Given the description of an element on the screen output the (x, y) to click on. 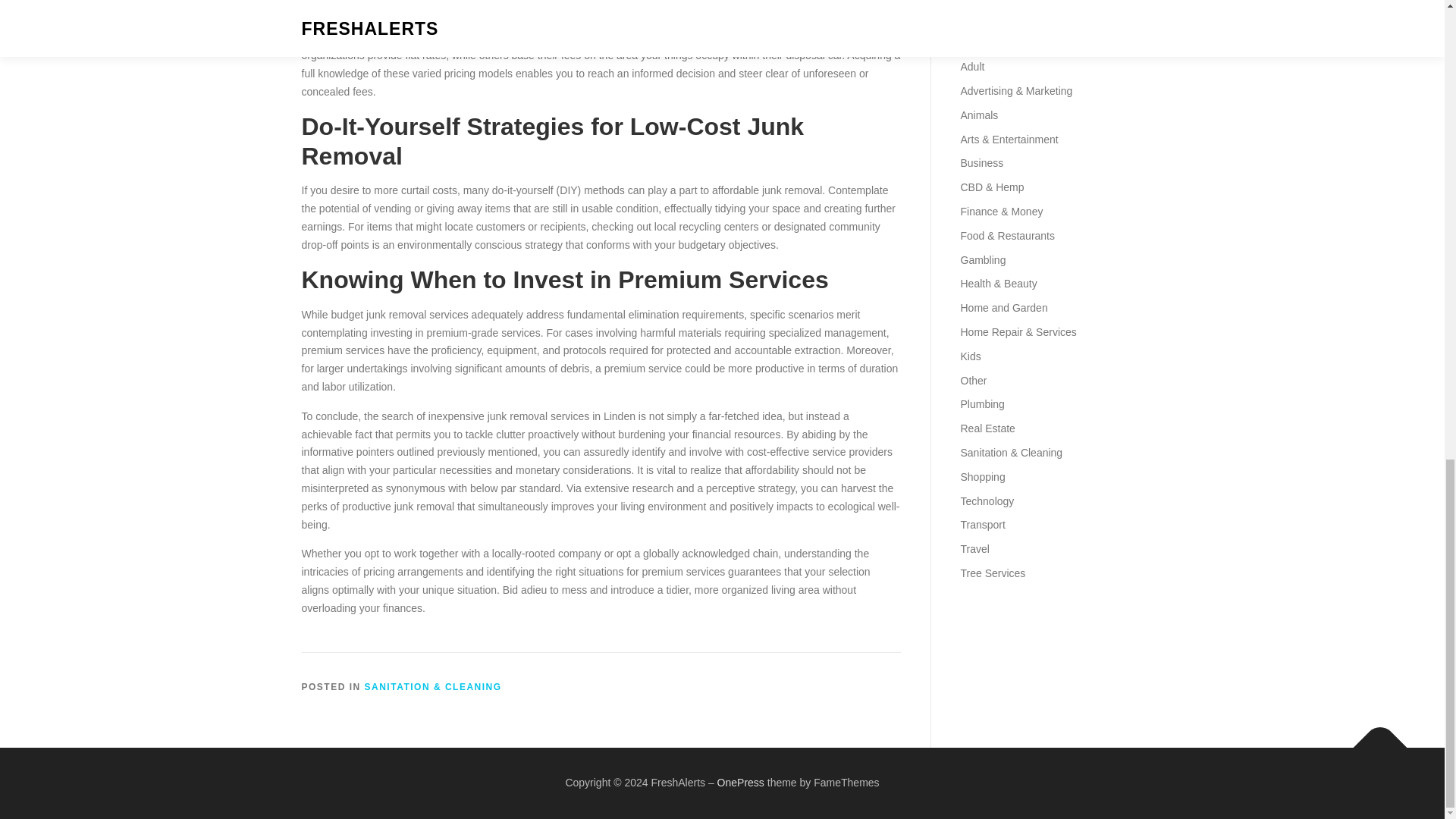
Adult (971, 66)
Animals (978, 114)
Business (981, 162)
Back To Top (1372, 740)
